Given the description of an element on the screen output the (x, y) to click on. 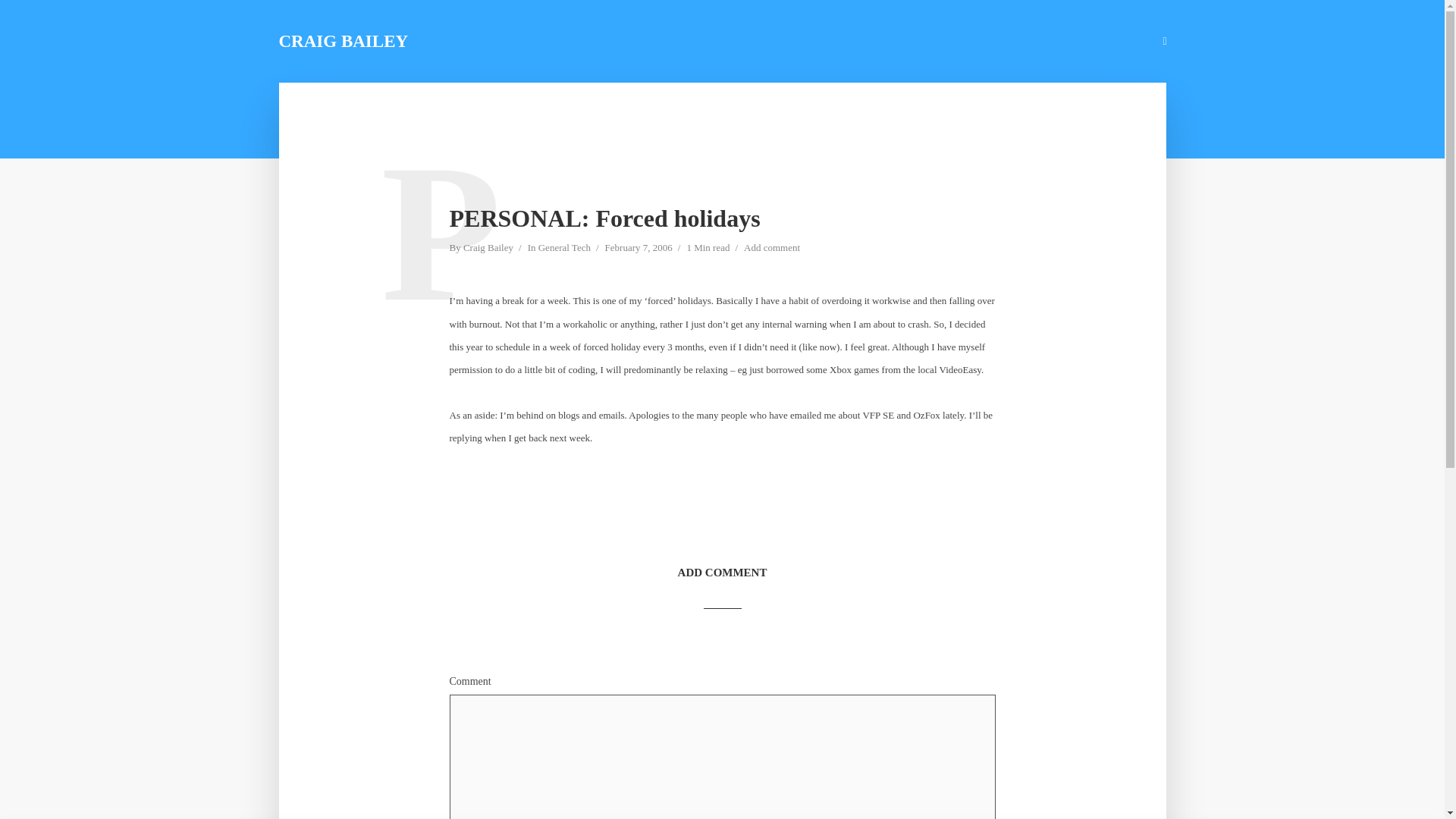
Add comment (771, 248)
General Tech (564, 248)
CRAIG BAILEY (344, 40)
Craig Bailey (488, 248)
